Given the description of an element on the screen output the (x, y) to click on. 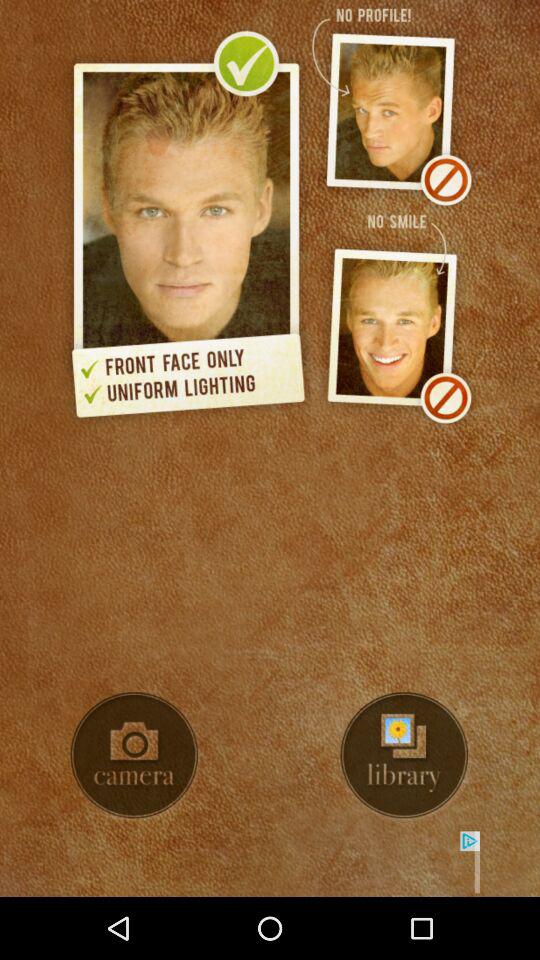
turn on camera (134, 755)
